Given the description of an element on the screen output the (x, y) to click on. 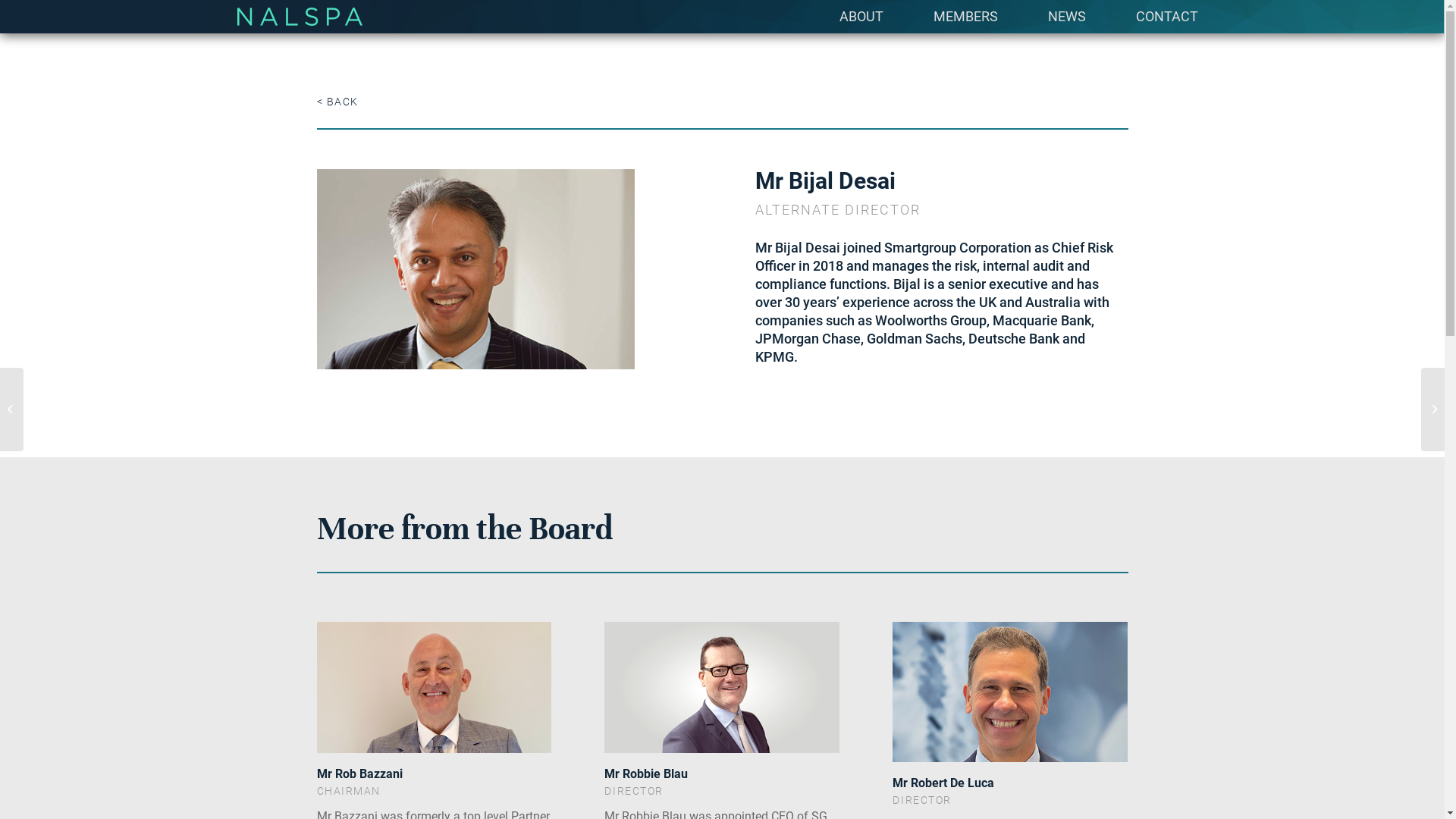
NEWS Element type: text (1066, 16)
ABOUT Element type: text (861, 16)
< BACK Element type: text (337, 101)
CONTACT Element type: text (1166, 16)
MEMBERS Element type: text (965, 16)
